Given the description of an element on the screen output the (x, y) to click on. 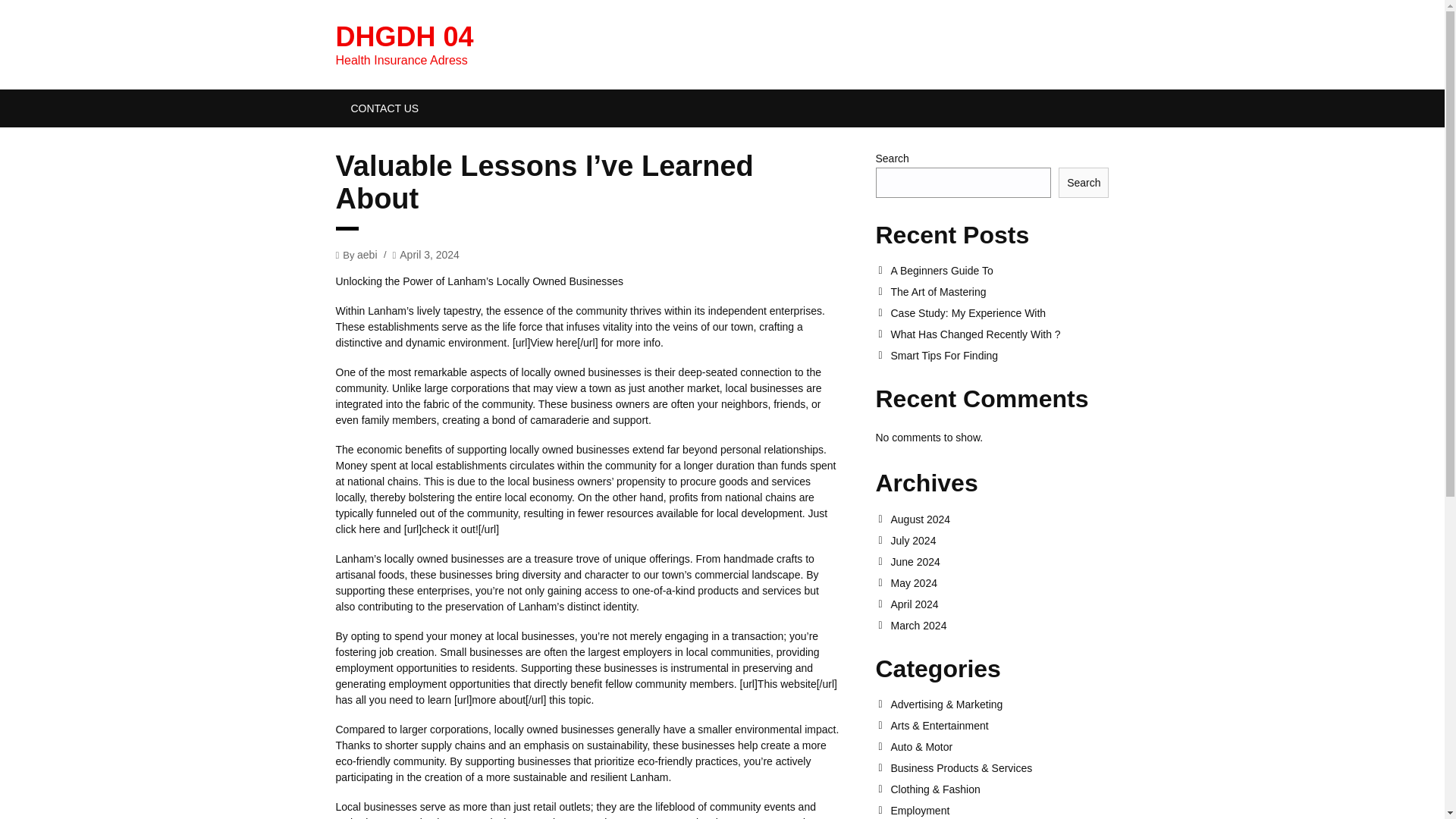
The Art of Mastering (998, 291)
What Has Changed Recently With ? (998, 334)
Health Insurance Adress (403, 36)
April 3, 2024 (429, 254)
April 2024 (998, 604)
Search (1083, 182)
March 2024 (998, 625)
DHGDH 04 (403, 36)
May 2024 (998, 582)
August 2024 (998, 519)
June 2024 (998, 562)
Employment (998, 810)
Case Study: My Experience With (998, 313)
Smart Tips For Finding (998, 355)
A Beginners Guide To (998, 270)
